Given the description of an element on the screen output the (x, y) to click on. 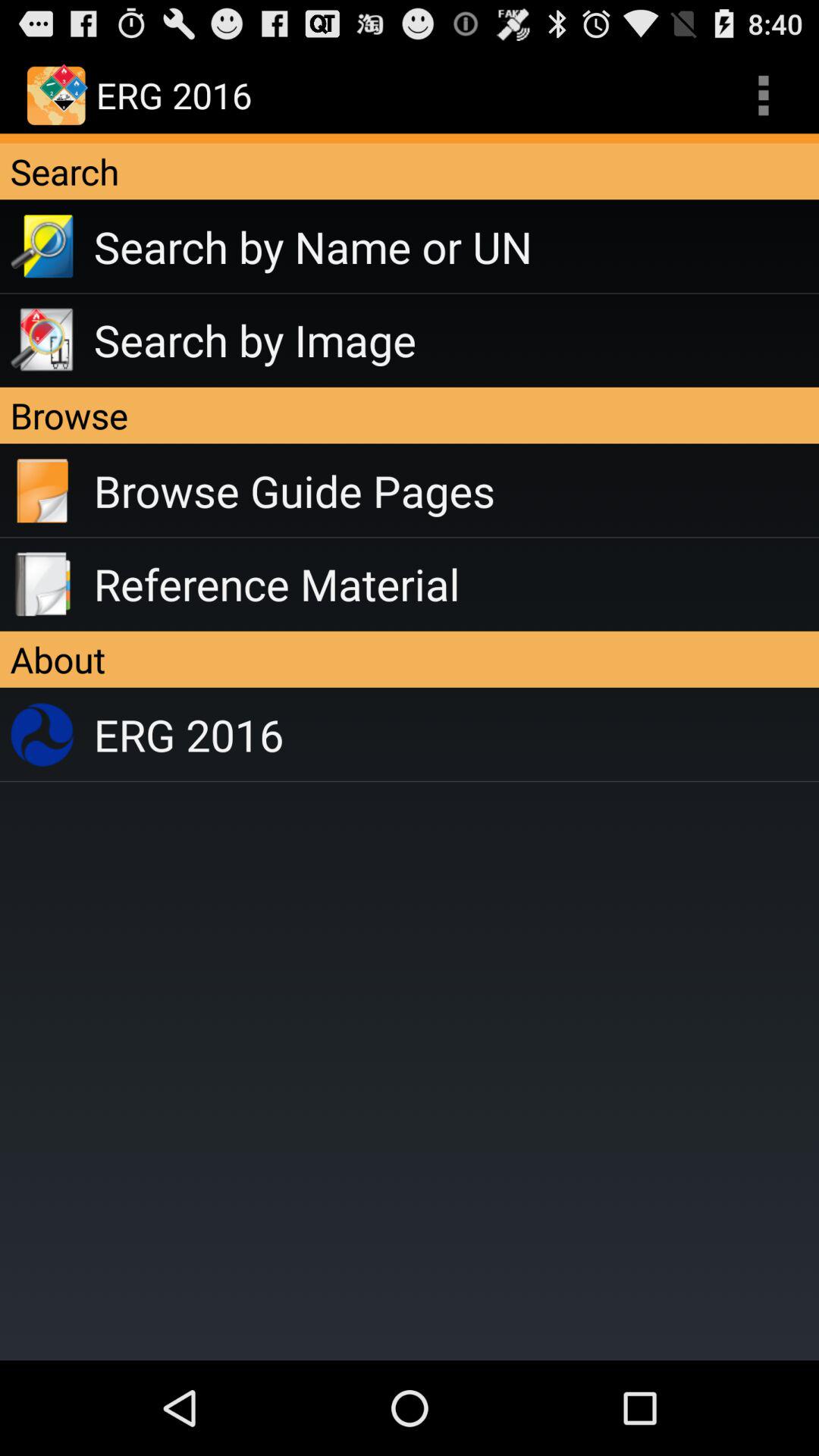
scroll to reference material app (456, 584)
